Given the description of an element on the screen output the (x, y) to click on. 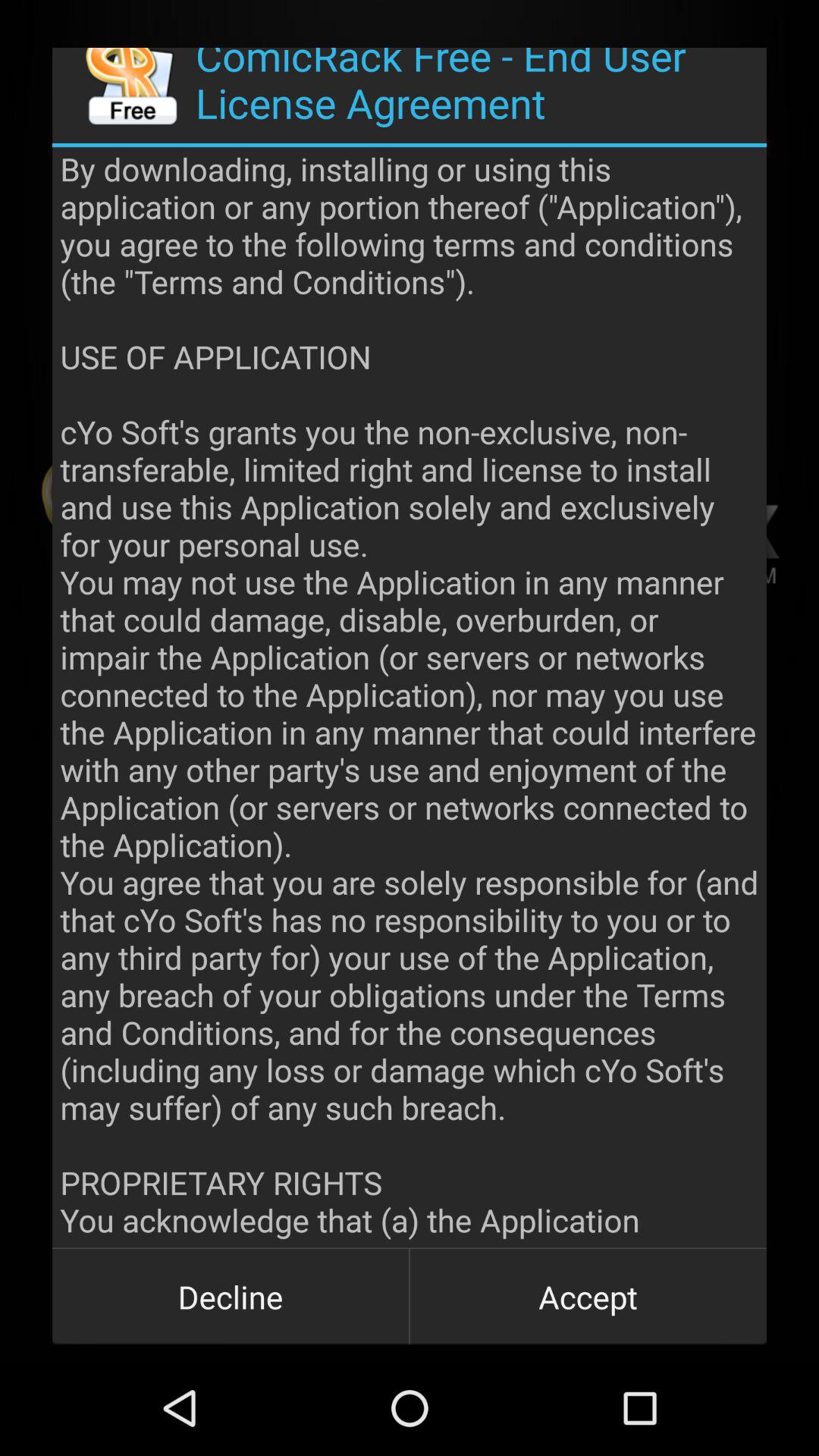
open by downloading installing app (409, 697)
